Given the description of an element on the screen output the (x, y) to click on. 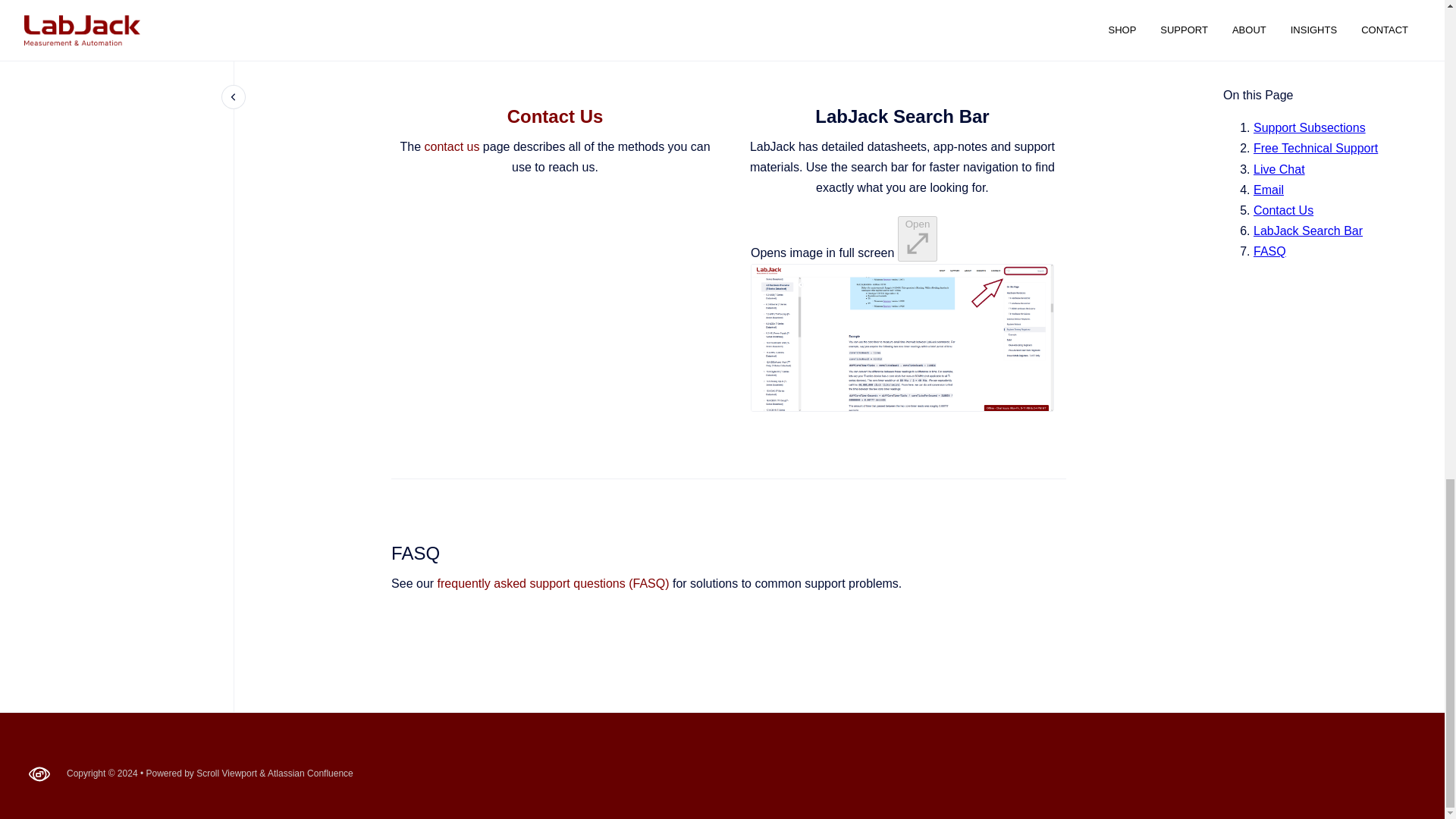
Atlassian Confluence (310, 773)
Copy to clipboard (384, 114)
Copy to clipboard (731, 114)
Contact Us (555, 116)
Scroll Viewport (227, 773)
contact us (451, 146)
Copy to clipboard (384, 551)
